Given the description of an element on the screen output the (x, y) to click on. 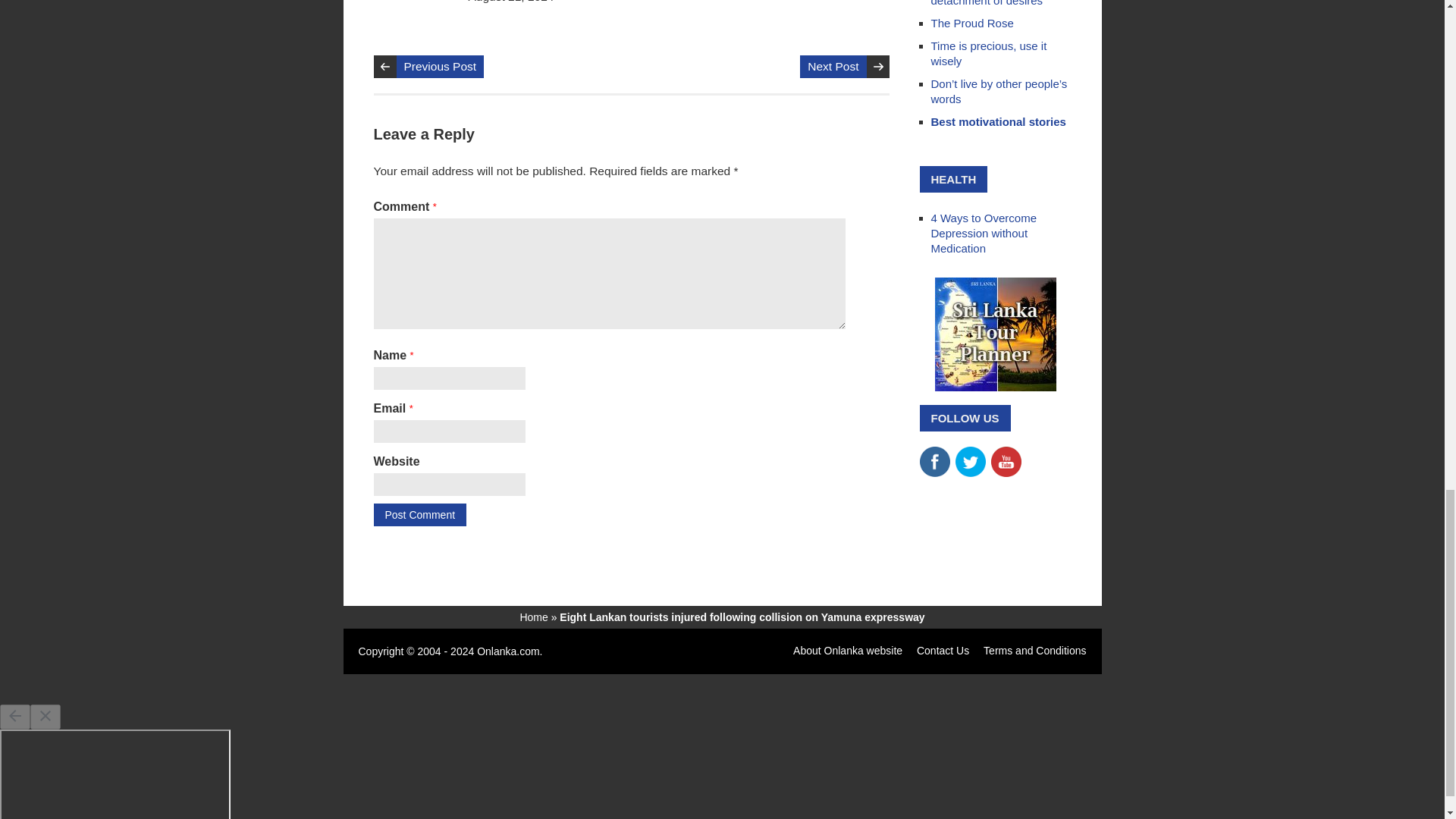
Best motivational stories (998, 121)
Previous Post (439, 66)
Post Comment (418, 514)
Onlanka Facebook page (933, 453)
The Proud Rose (972, 22)
Next Post (832, 66)
Attachment and detachment of desires (987, 3)
Post Comment (418, 514)
Time is precious, use it wisely (988, 53)
